Given the description of an element on the screen output the (x, y) to click on. 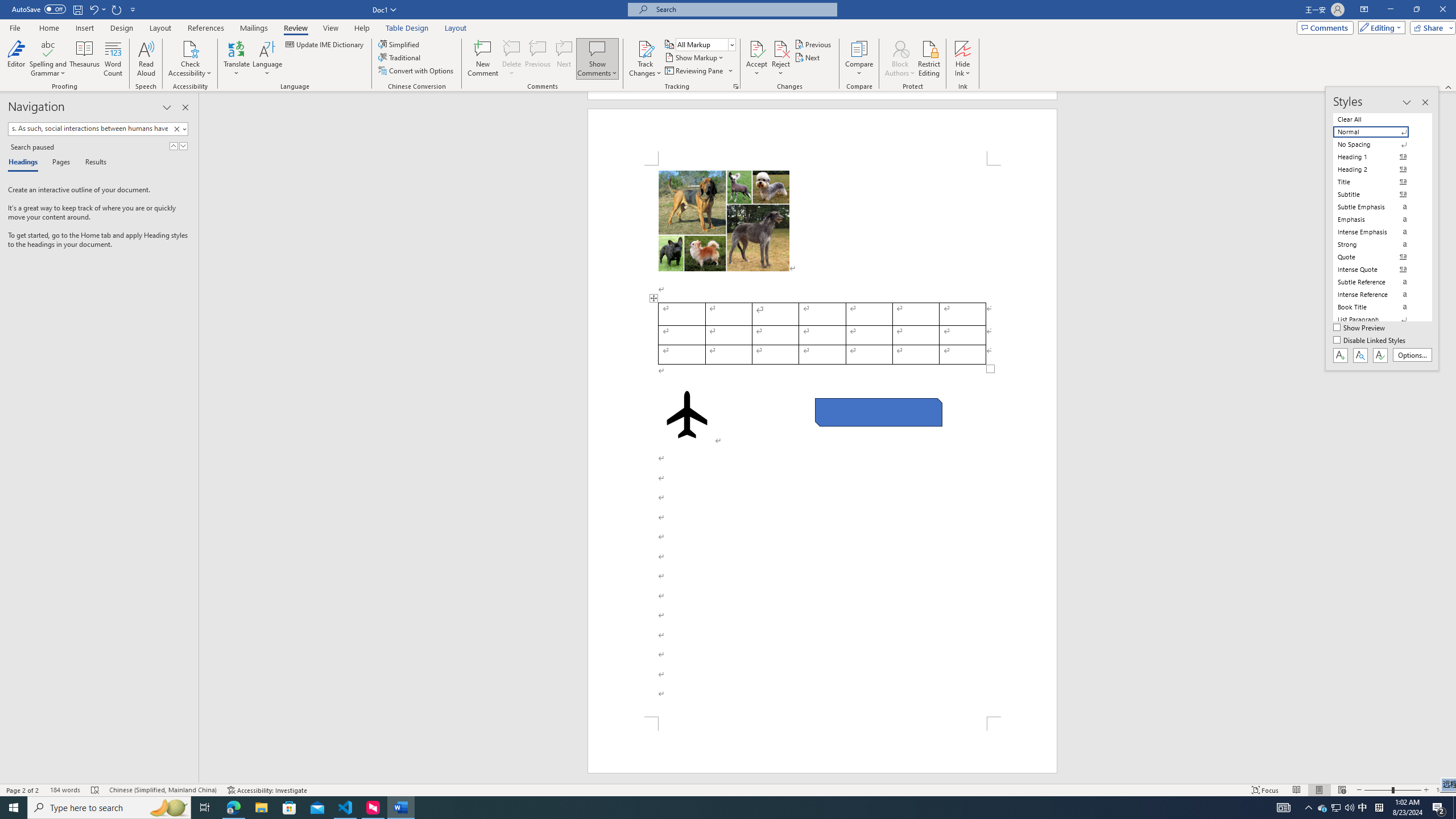
Delete (511, 58)
Page Number Page 2 of 2 (22, 790)
Class: NetUIScrollBar (1450, 437)
Track Changes (644, 58)
Options... (1412, 354)
Reject (780, 58)
Results (91, 162)
Intense Quote (1377, 269)
Pages (59, 162)
Zoom 104% (1443, 790)
Word Count 184 words (64, 790)
Thesaurus... (84, 58)
